Given the description of an element on the screen output the (x, y) to click on. 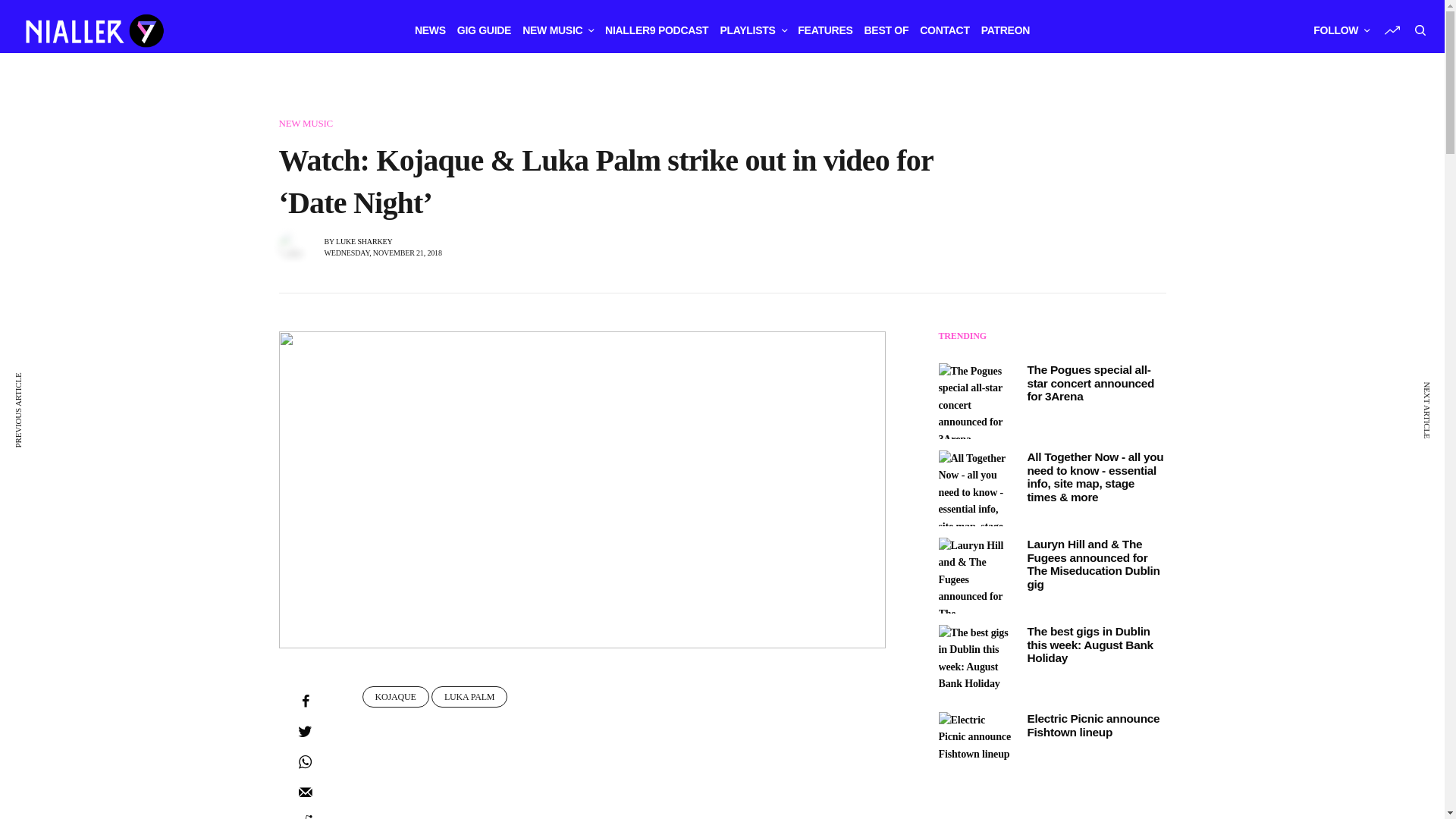
Nialler9 (92, 30)
Playlists (752, 30)
Best Of (886, 30)
